Given the description of an element on the screen output the (x, y) to click on. 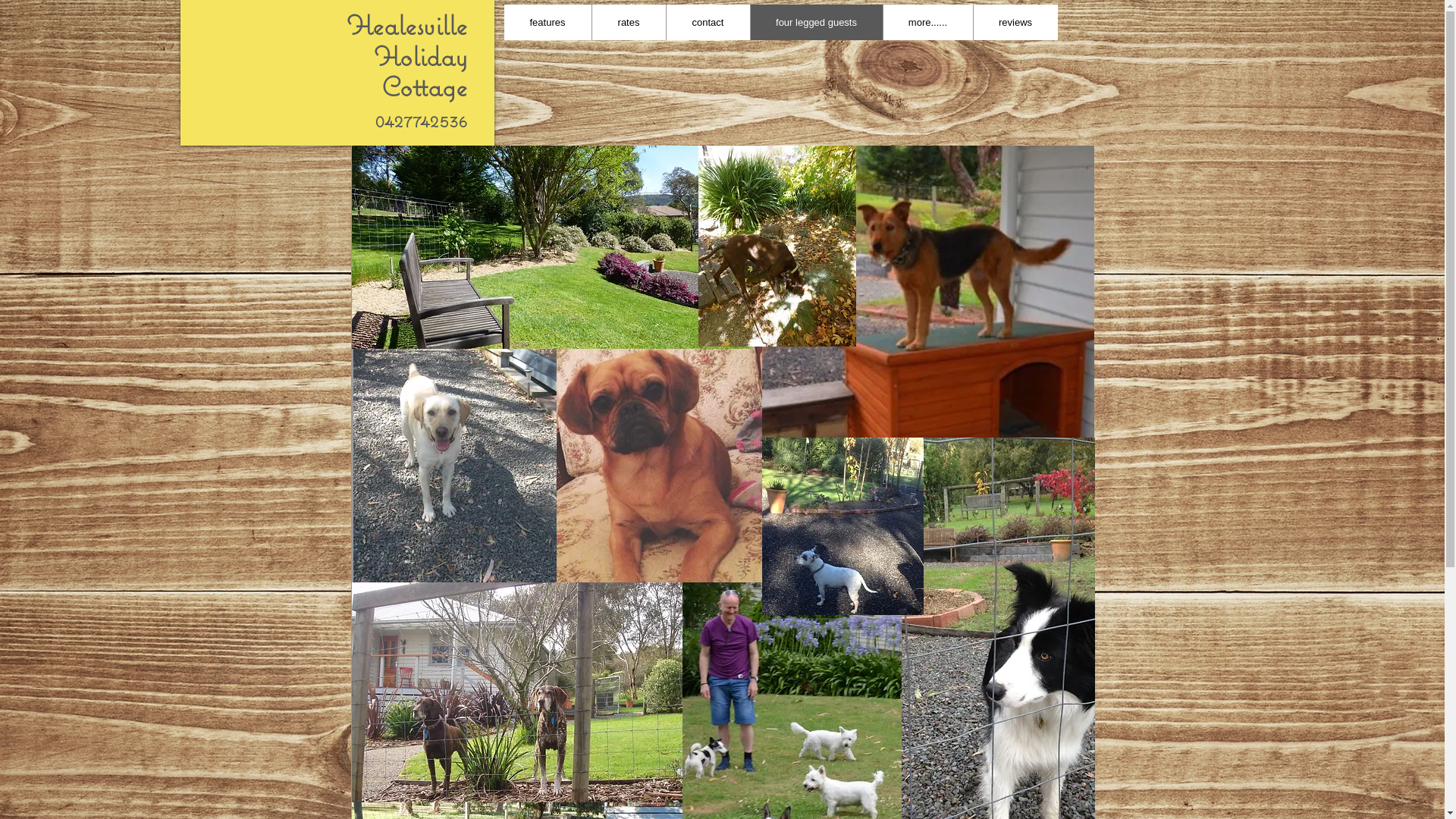
features Element type: text (546, 22)
four legged guests Element type: text (815, 22)
Healesville Holiday Cottage Element type: text (405, 54)
reviews Element type: text (1014, 22)
contact Element type: text (707, 22)
more...... Element type: text (927, 22)
Hunting in garden Element type: hover (776, 245)
rates Element type: text (628, 22)
